Given the description of an element on the screen output the (x, y) to click on. 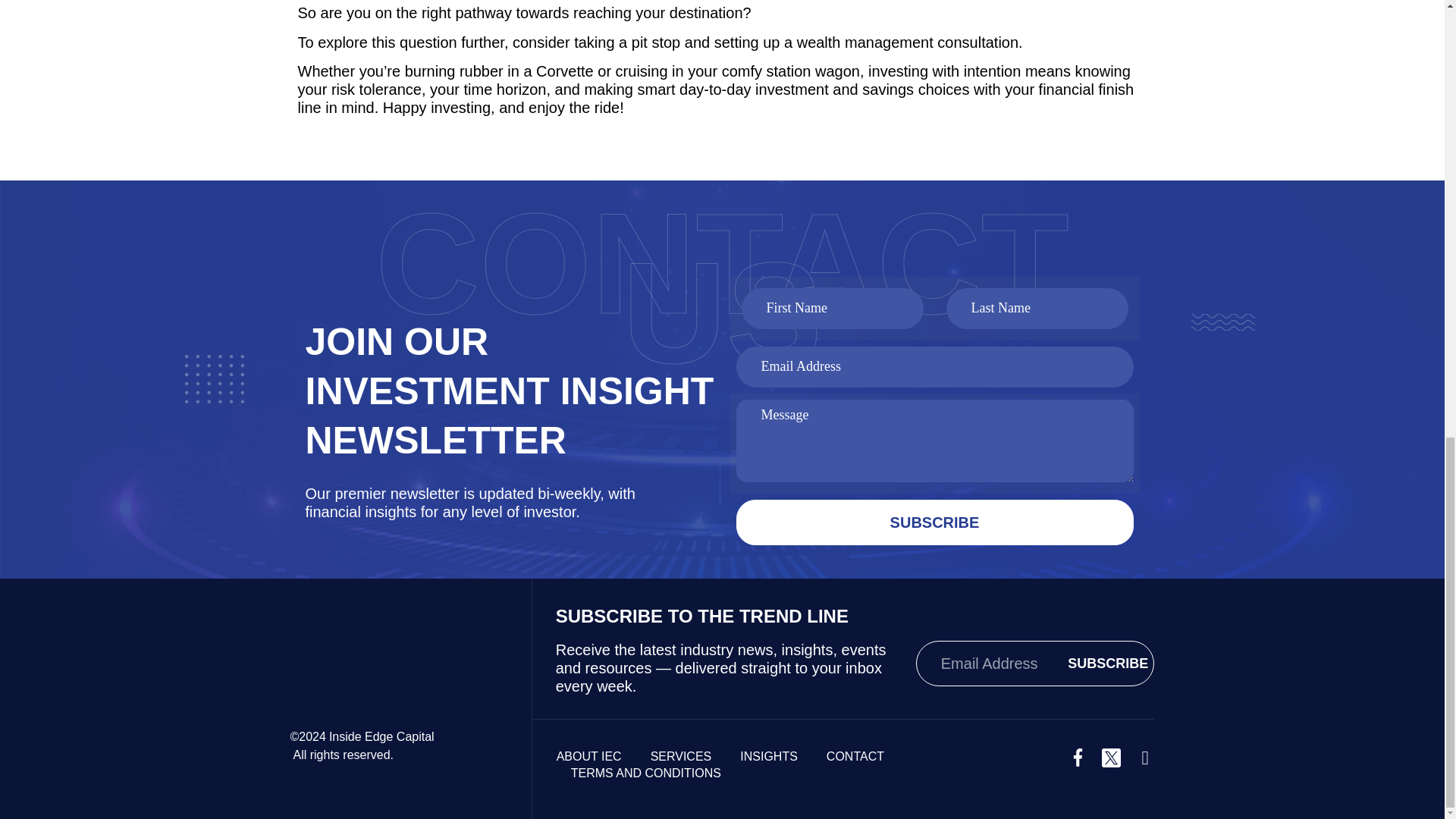
ABOUT IEC (588, 756)
Inside Edge Capital (381, 736)
SUBSCRIBE (933, 522)
SUBSCRIBE (1107, 663)
